Given the description of an element on the screen output the (x, y) to click on. 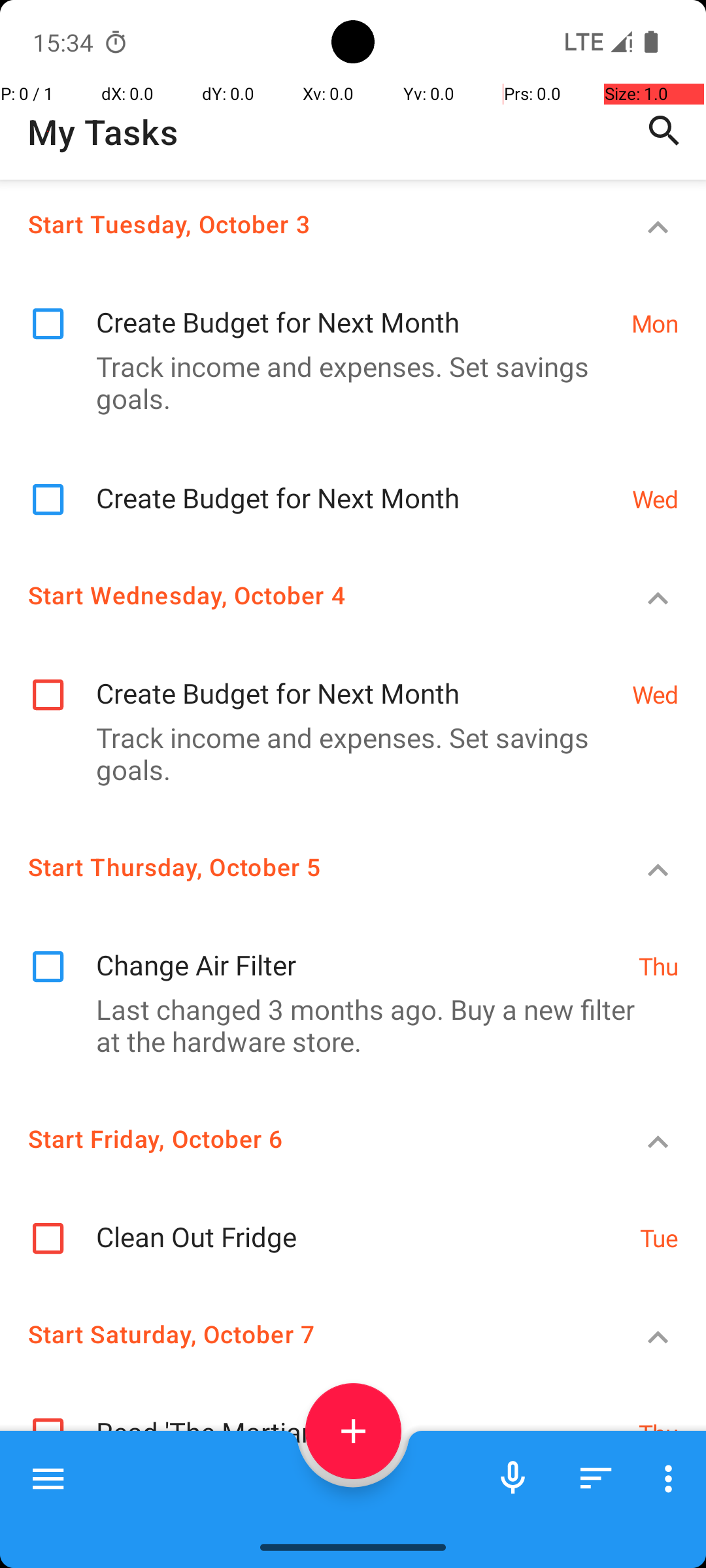
Start Tuesday, October 3 Element type: android.widget.TextView (304, 223)
Start Wednesday, October 4 Element type: android.widget.TextView (304, 594)
Start Thursday, October 5 Element type: android.widget.TextView (304, 866)
Start Friday, October 6 Element type: android.widget.TextView (304, 1138)
Start Saturday, October 7 Element type: android.widget.TextView (304, 1333)
Start Sunday, October 8 Element type: android.widget.TextView (304, 1505)
Track income and expenses. Set savings goals. Element type: android.widget.TextView (346, 381)
Last changed 3 months ago. Buy a new filter at the hardware store. Element type: android.widget.TextView (346, 1024)
